Given the description of an element on the screen output the (x, y) to click on. 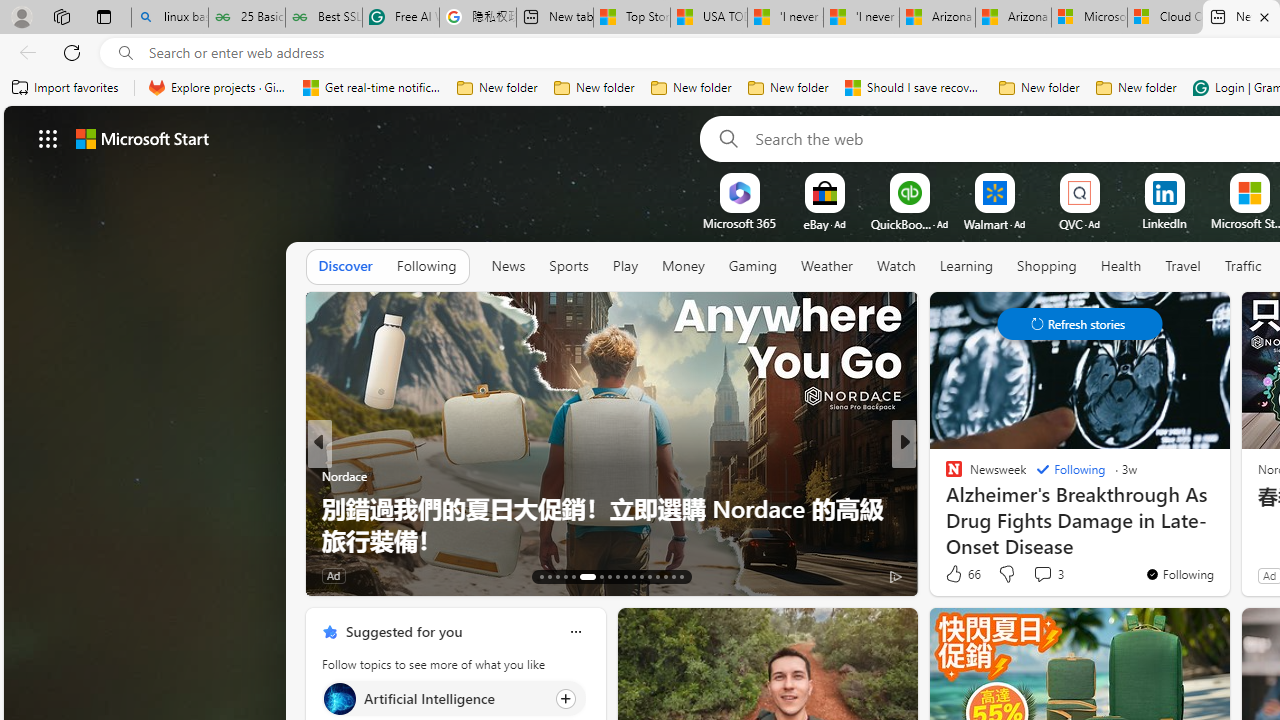
View comments 3 Comment (1042, 573)
View comments 16 Comment (1042, 575)
962 Like (959, 574)
AutomationID: tab-18 (581, 576)
Should I save recovered Word documents? - Microsoft Support (913, 88)
Health (1121, 267)
Food & Wine (944, 475)
TechRadar (944, 507)
AutomationID: waffle (47, 138)
